Given the description of an element on the screen output the (x, y) to click on. 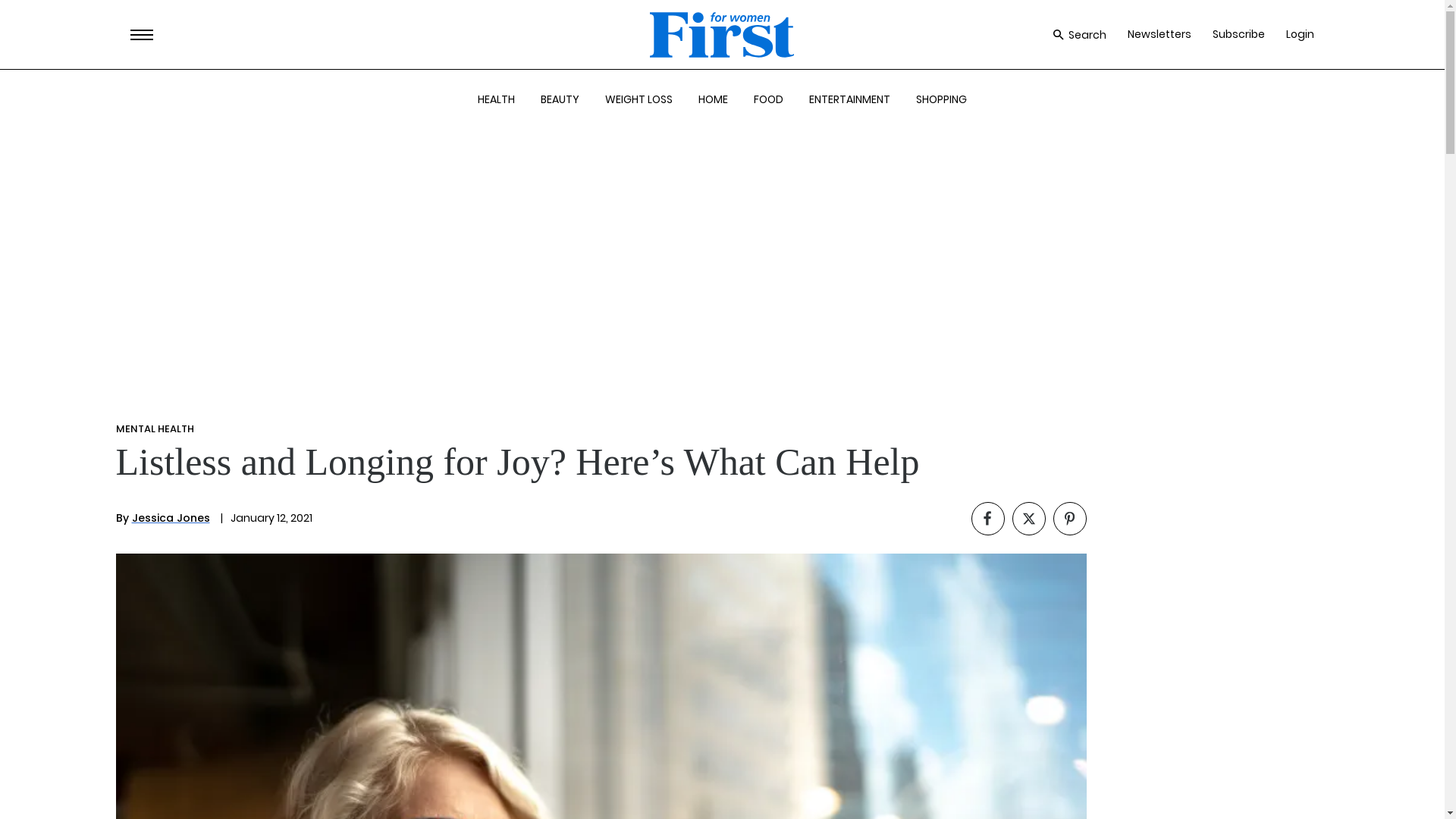
Click to share on Twitter (1028, 518)
Click to share on Facebook (987, 518)
Click to share on Pinterest (1069, 518)
